Given the description of an element on the screen output the (x, y) to click on. 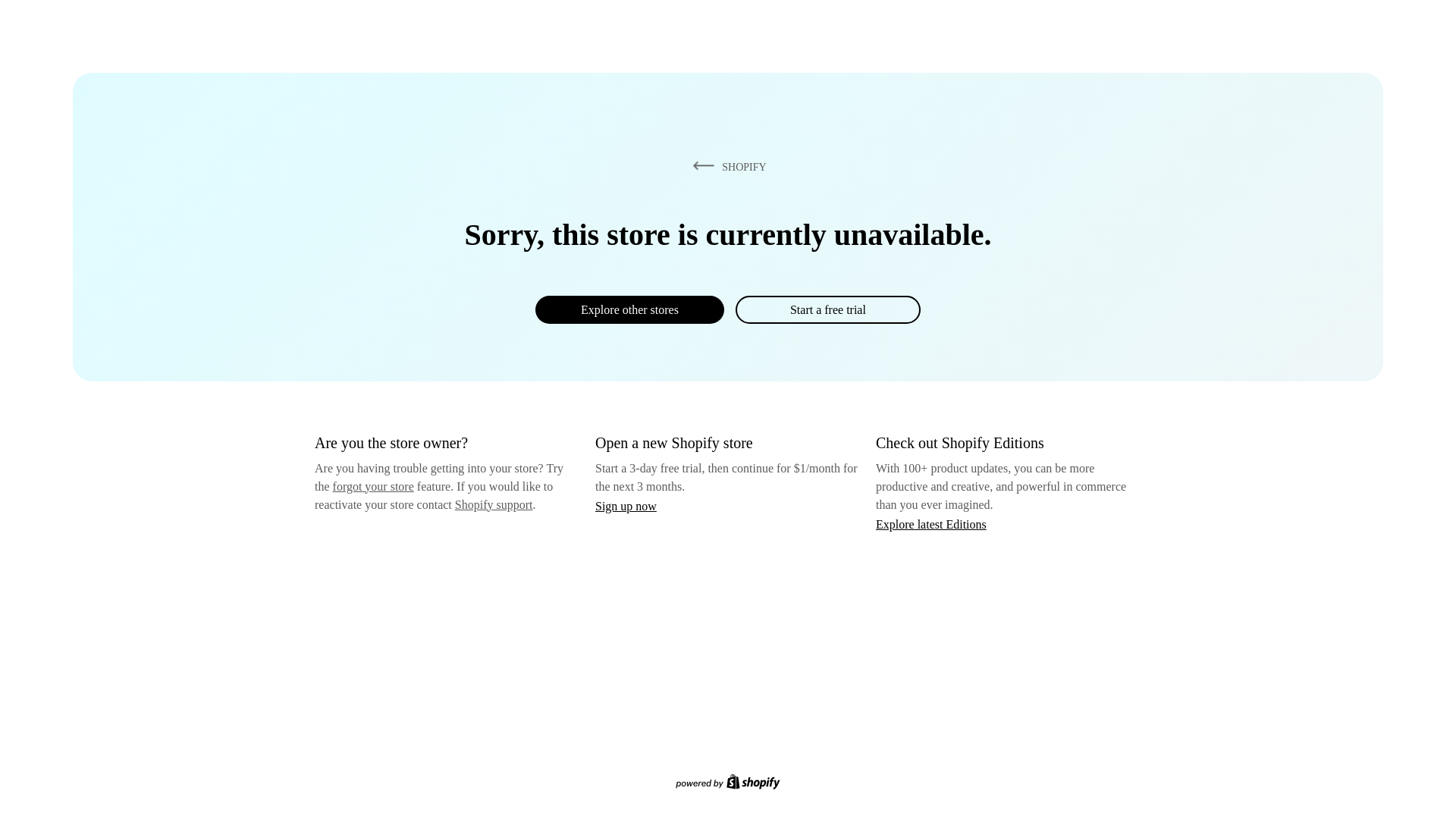
Shopify support (493, 504)
SHOPIFY (726, 166)
Start a free trial (827, 309)
Explore latest Editions (931, 523)
forgot your store (373, 486)
Explore other stores (629, 309)
Sign up now (625, 505)
